Given the description of an element on the screen output the (x, y) to click on. 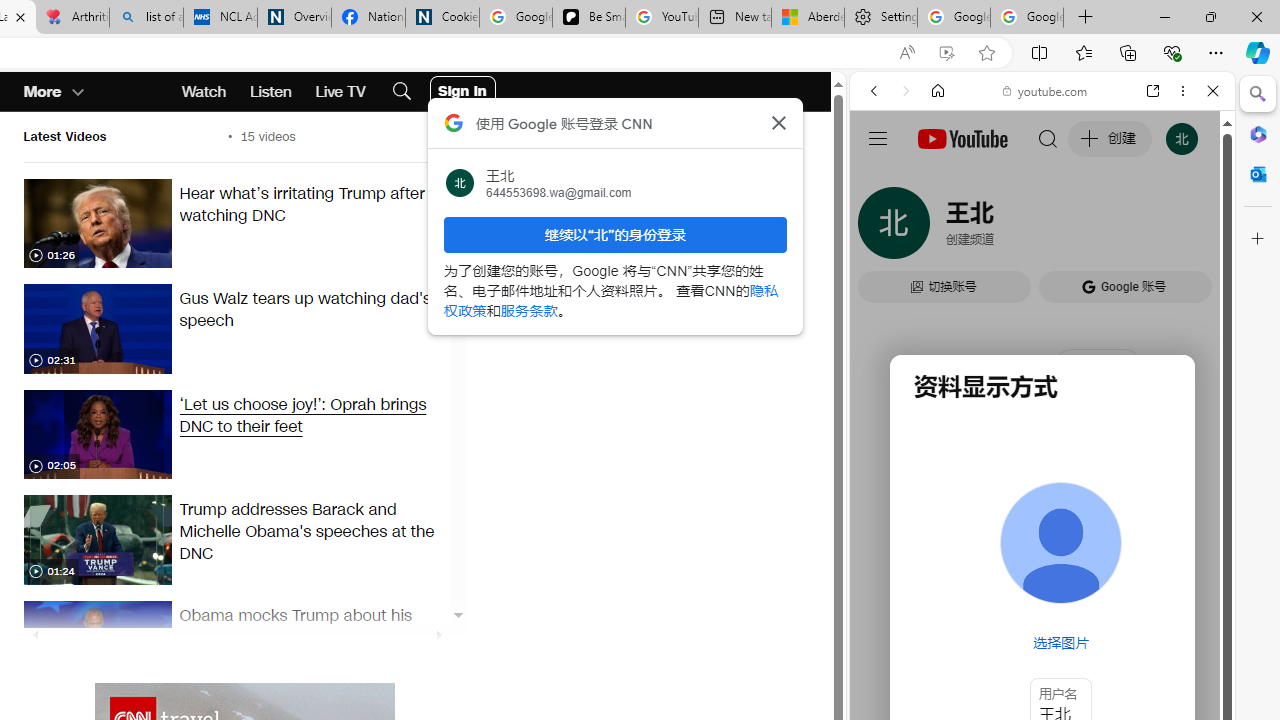
still_20889475_5694453.926_still.jpg (97, 328)
Live TV (340, 92)
